Given the description of an element on the screen output the (x, y) to click on. 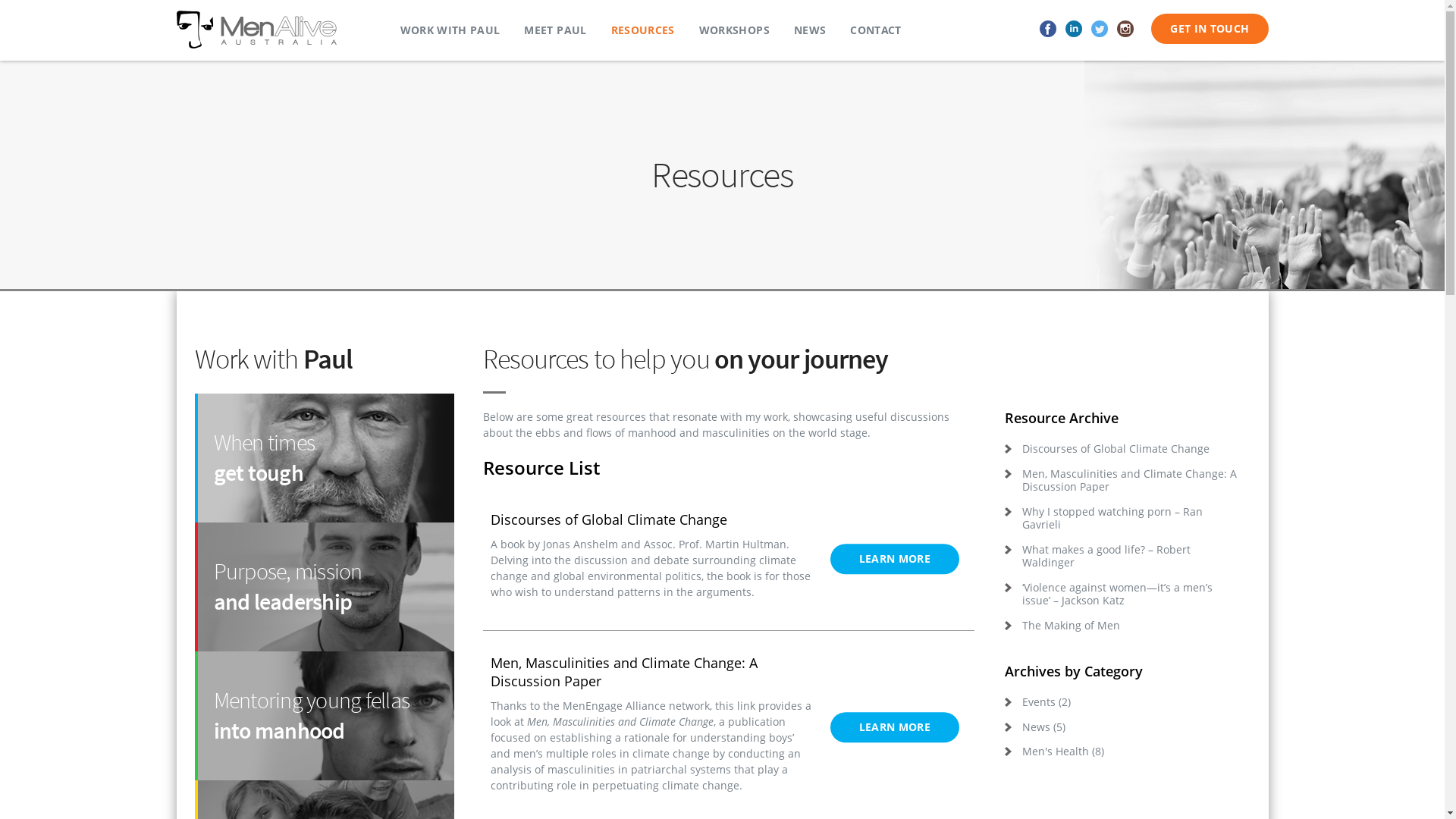
GET IN TOUCH Element type: text (1209, 28)
When times
get tough Element type: text (323, 457)
The Making of Men Element type: text (1122, 625)
Discourses of Global Climate Change Element type: text (1122, 448)
WORKSHOPS Element type: text (734, 30)
LEARN MORE Element type: text (894, 558)
NEWS Element type: text (809, 30)
CONTACT Element type: text (875, 30)
Men, Masculinities and Climate Change: A Discussion Paper Element type: text (1122, 480)
LEARN MORE Element type: text (894, 727)
WORK WITH PAUL Element type: text (450, 30)
RESOURCES Element type: text (643, 30)
Events (2) Element type: text (1122, 702)
Men's Health (8) Element type: text (1122, 751)
News (5) Element type: text (1122, 727)
Mentoring young fellas
into manhood Element type: text (323, 715)
MEET PAUL Element type: text (554, 30)
Purpose, mission
and leadership Element type: text (323, 586)
